Given the description of an element on the screen output the (x, y) to click on. 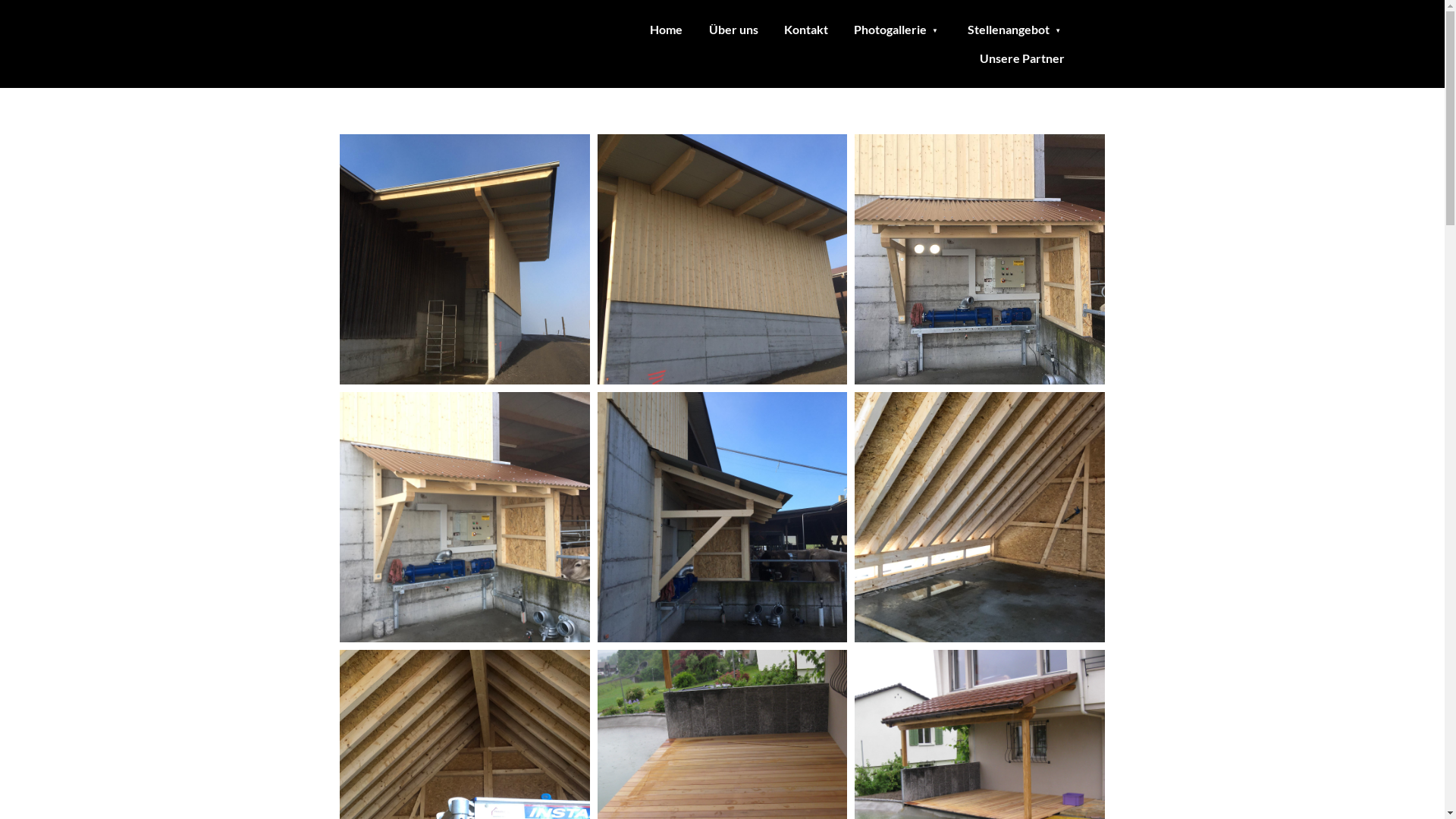
Home Element type: text (665, 29)
Unsere Partner Element type: text (1022, 58)
Kontakt Element type: text (805, 29)
